Given the description of an element on the screen output the (x, y) to click on. 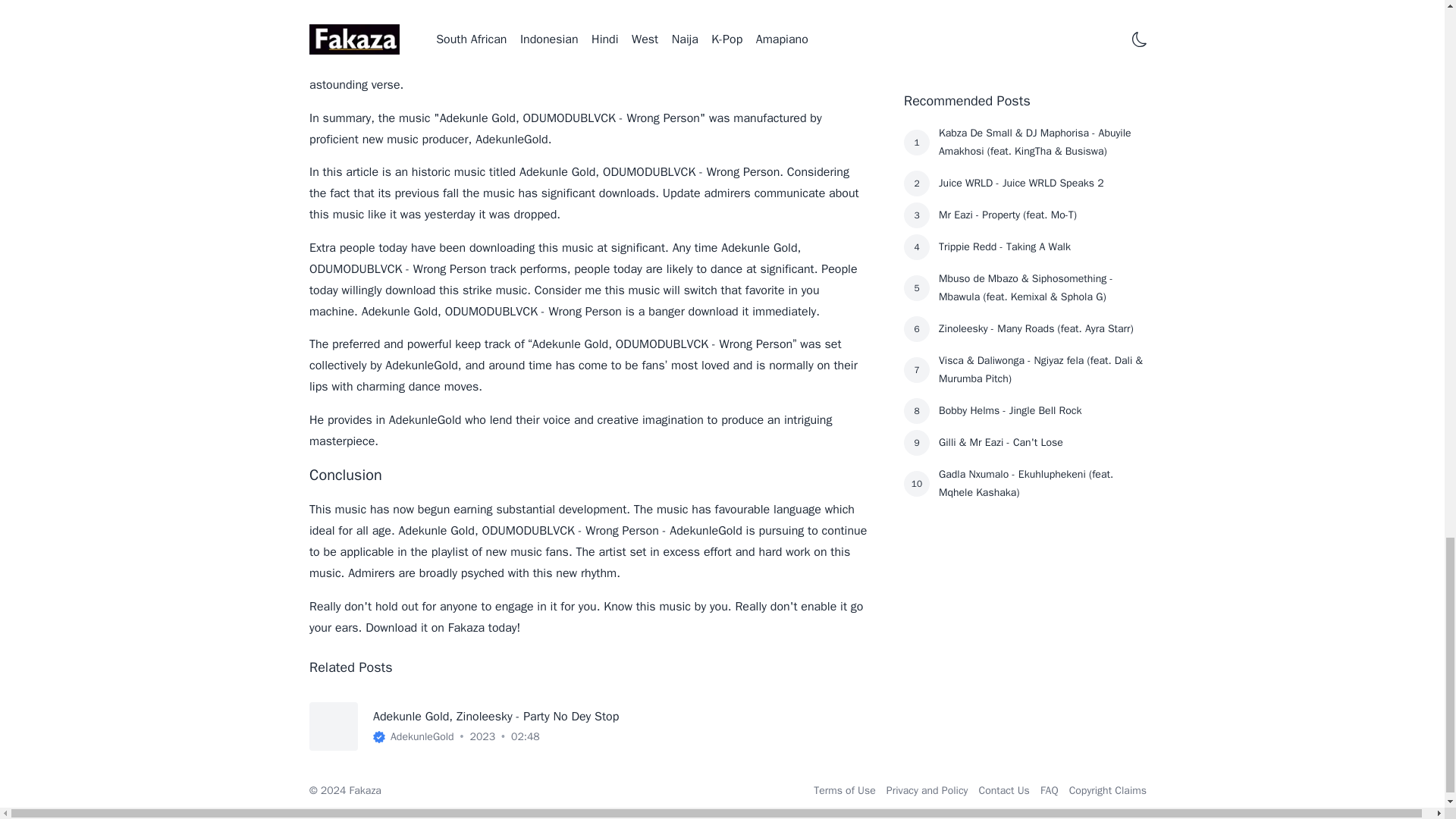
FAQ (1049, 789)
Copyright Claims (1107, 789)
Privacy and Policy (927, 789)
Terms of Use (844, 789)
Contact Us (1003, 789)
Adekunle Gold, Zinoleesky - Party No Dey Stop (495, 716)
Adekunle Gold, Zinoleesky - Party No Dey Stop (495, 716)
